Given the description of an element on the screen output the (x, y) to click on. 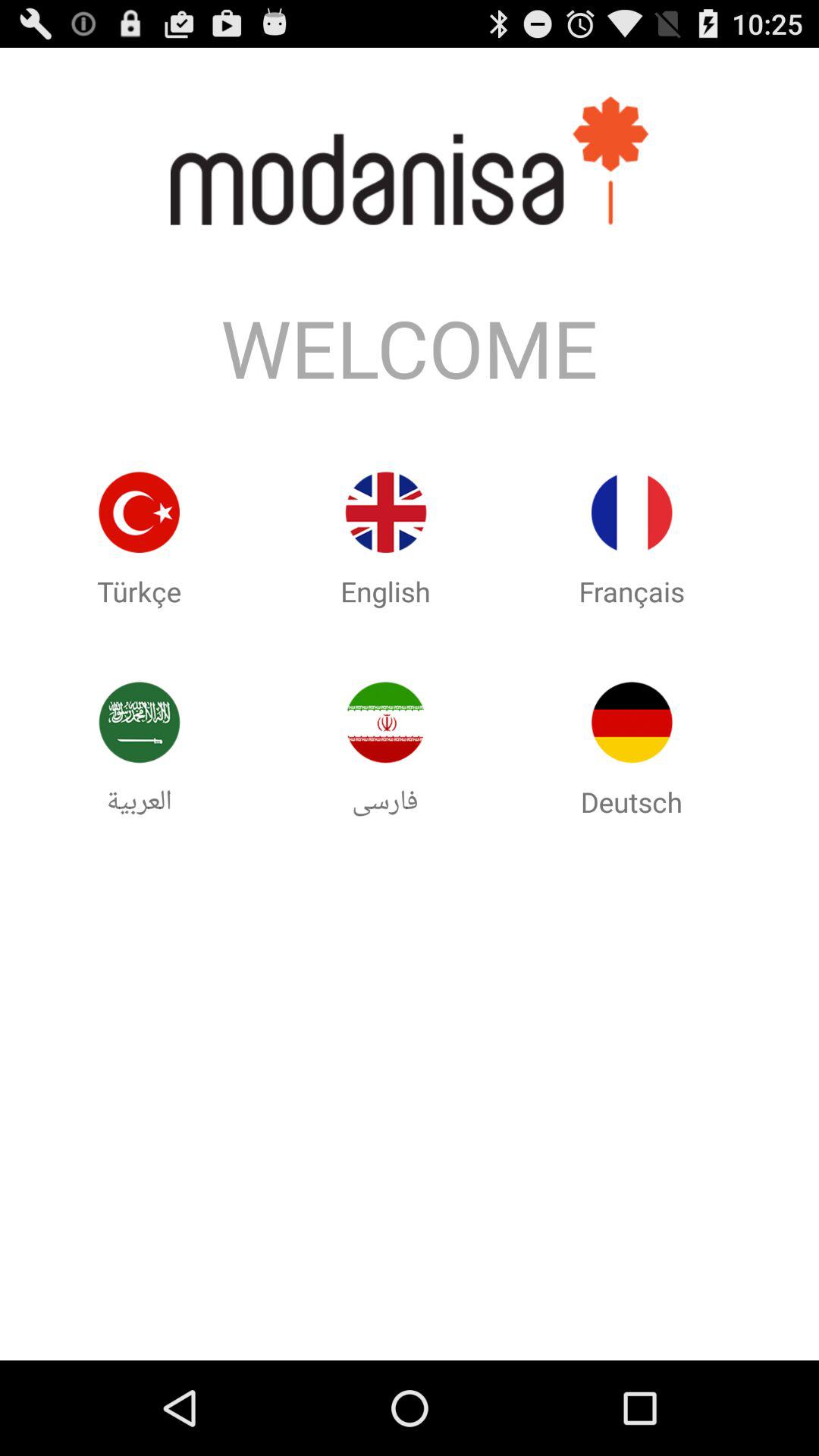
choose deutsch language (631, 722)
